Given the description of an element on the screen output the (x, y) to click on. 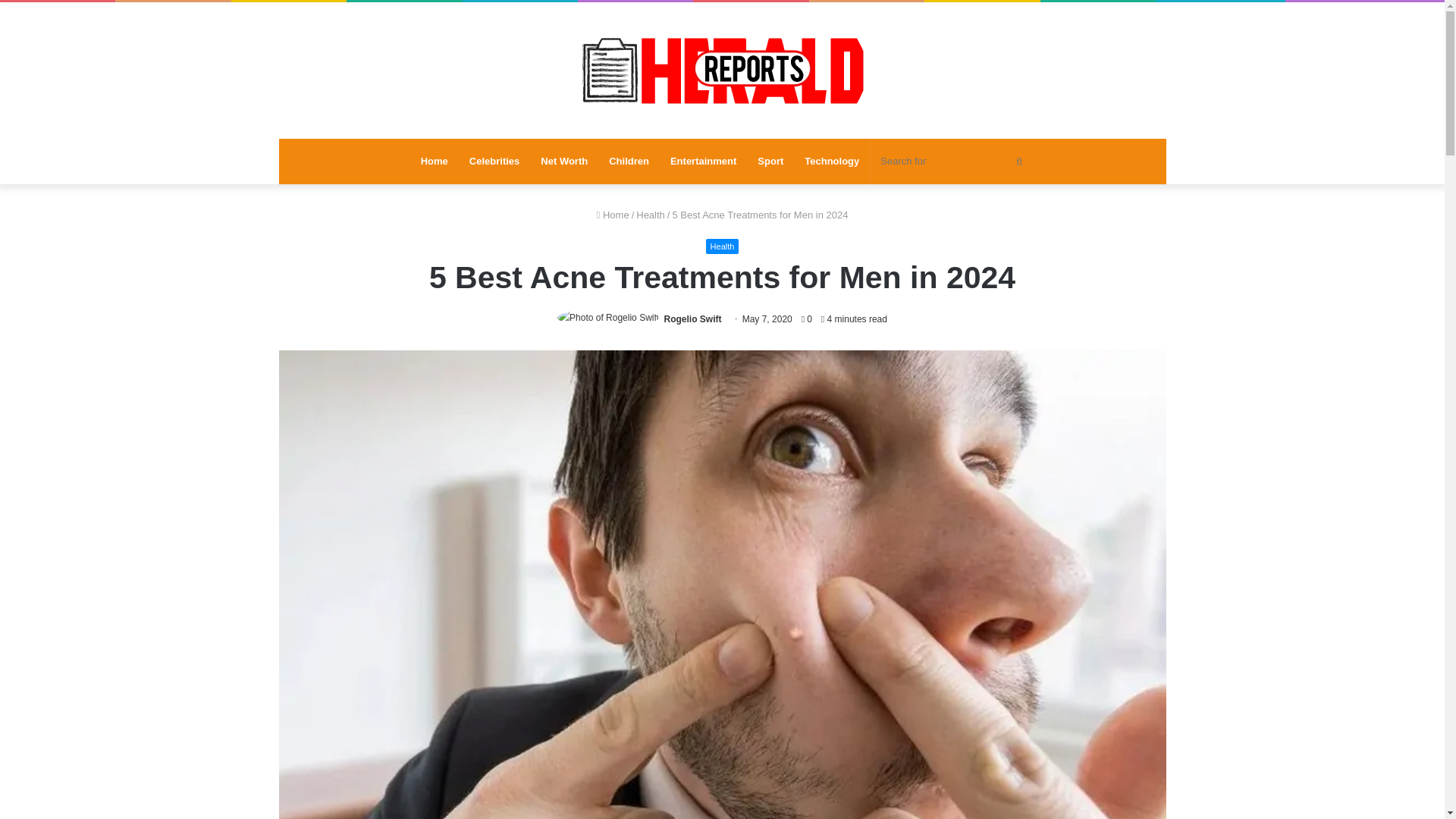
Entertainment (702, 161)
Children (628, 161)
Technology (831, 161)
Health (722, 246)
Home (612, 214)
Sport (769, 161)
Reports Herald (721, 70)
Celebrities (493, 161)
Search for (951, 161)
Net Worth (563, 161)
